Given the description of an element on the screen output the (x, y) to click on. 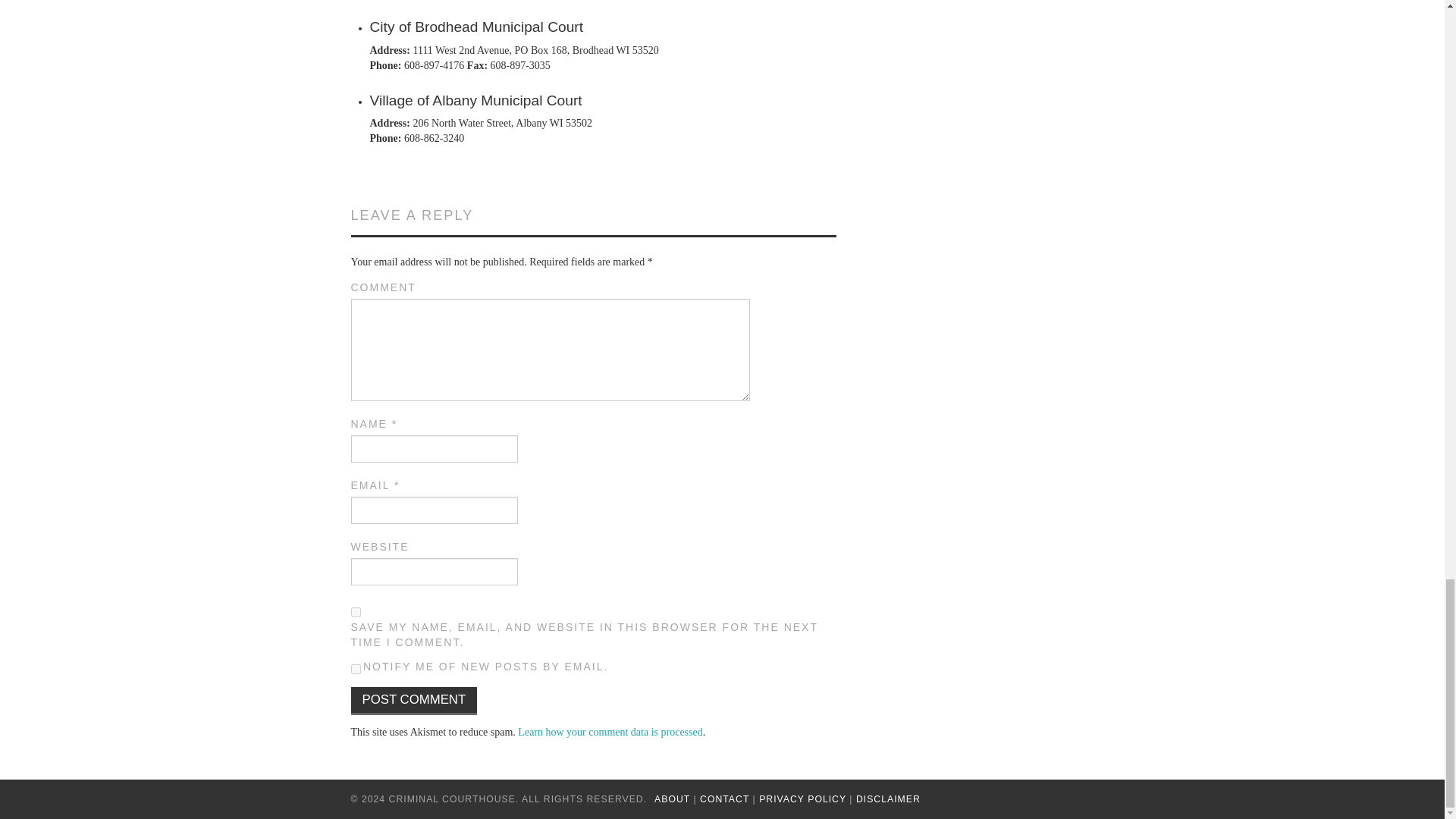
Learn how your comment data is processed (609, 731)
subscribe (354, 669)
yes (354, 612)
Post Comment (413, 700)
Post Comment (413, 700)
